Given the description of an element on the screen output the (x, y) to click on. 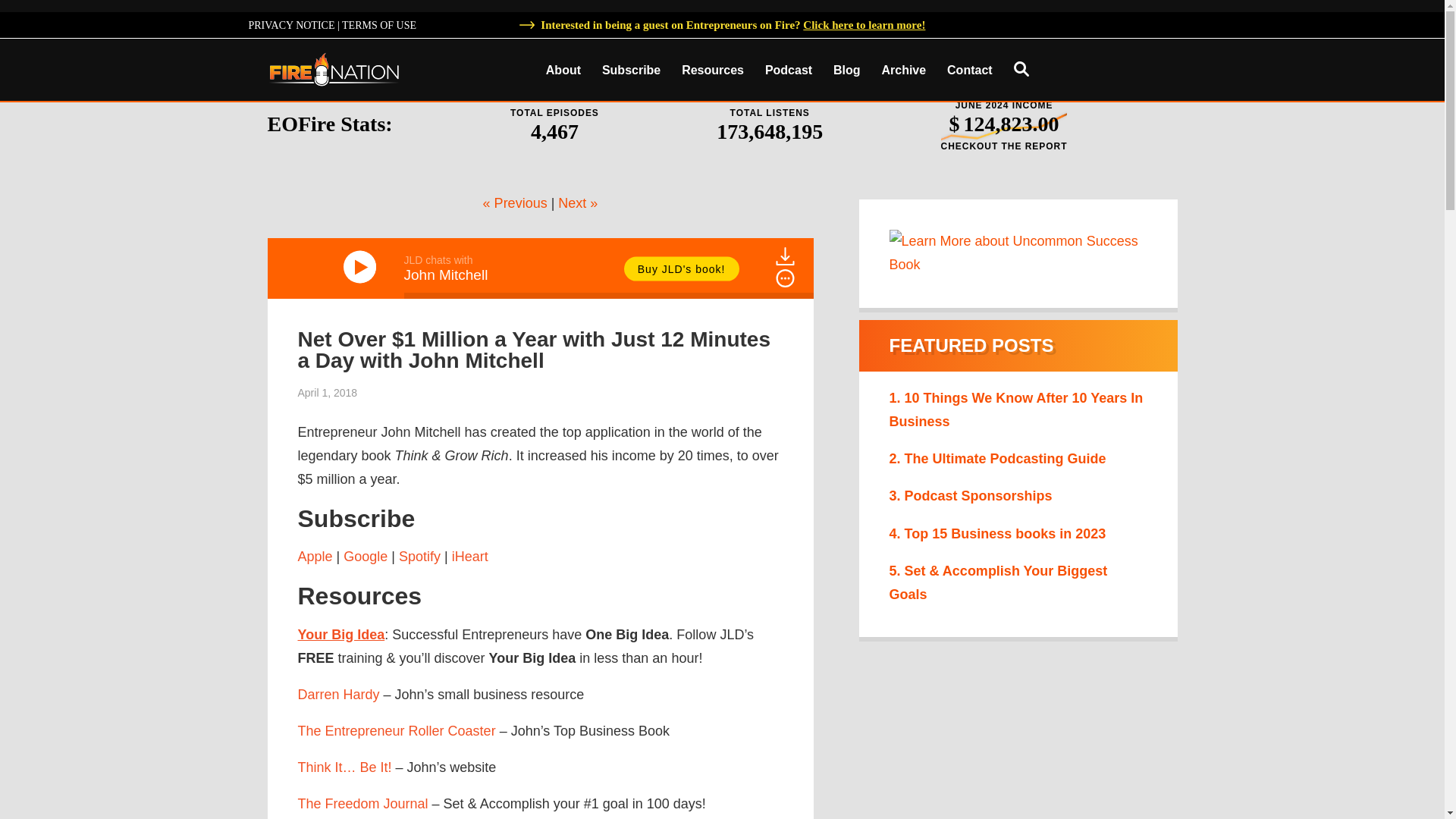
Buy JLD's book! (681, 268)
Subscribe (630, 71)
ENTREPRENEURS ON FIRE WITH JOHN LEE DUMAS (333, 68)
Blog (846, 71)
Contact (969, 71)
The Entrepreneur Roller Coaster (396, 730)
Spotify (419, 556)
The Freedom Journal (362, 803)
Your Big Idea (340, 634)
Google (365, 556)
Resources (712, 71)
Podcast (788, 71)
Archive (903, 71)
TERMS OF USE (379, 25)
Apple (314, 556)
